Given the description of an element on the screen output the (x, y) to click on. 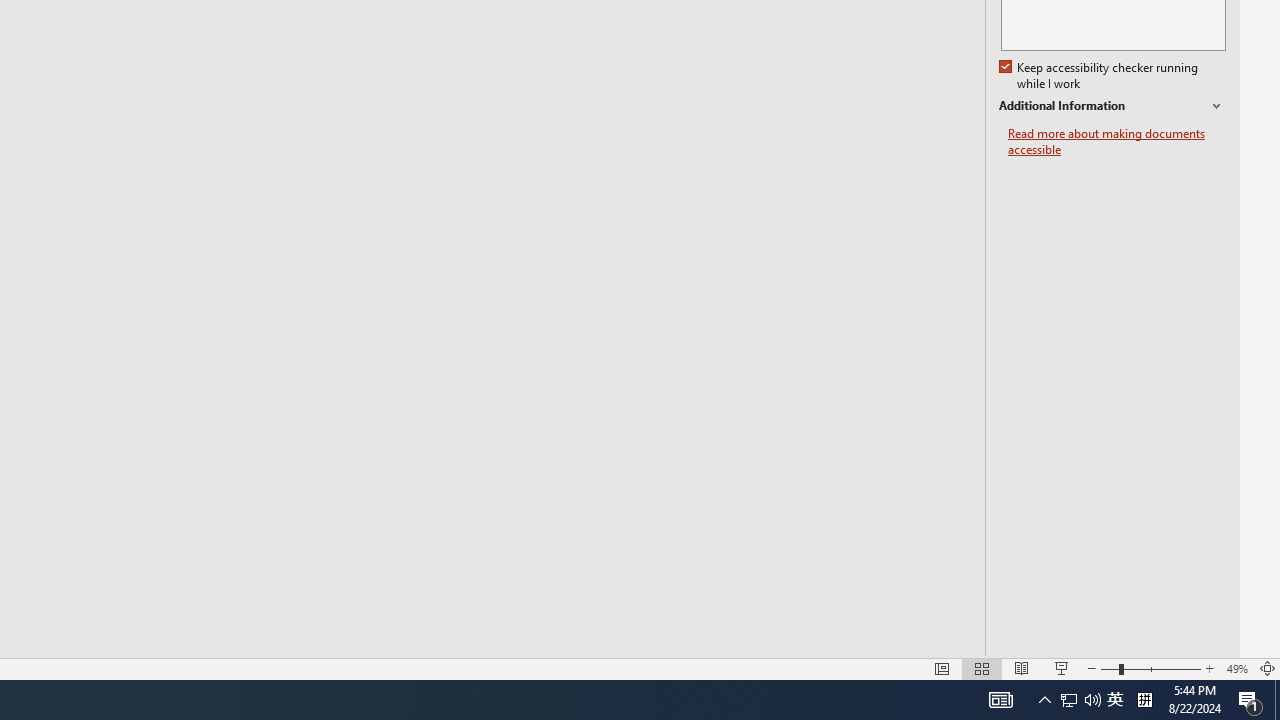
Read more about making documents accessible (1117, 142)
Zoom 49% (1236, 668)
Keep accessibility checker running while I work (1099, 76)
Additional Information (1112, 106)
